Given the description of an element on the screen output the (x, y) to click on. 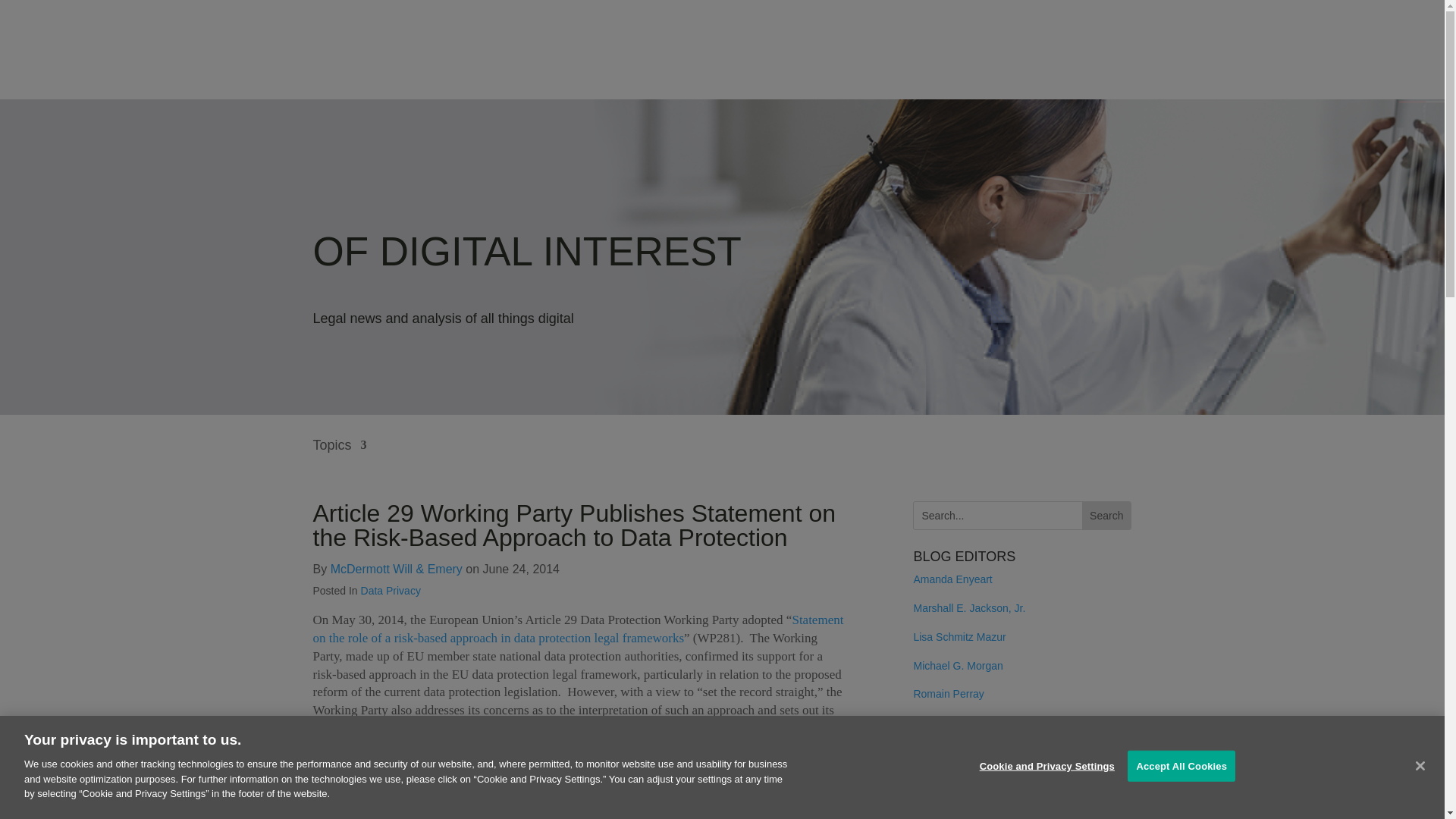
Follow on LinkedIn (955, 784)
Topics (339, 455)
Follow on X (985, 784)
Follow on RSS (924, 784)
Follow on Youtube (1015, 784)
Data Privacy (390, 590)
Search (1106, 515)
Search (1106, 515)
